Given the description of an element on the screen output the (x, y) to click on. 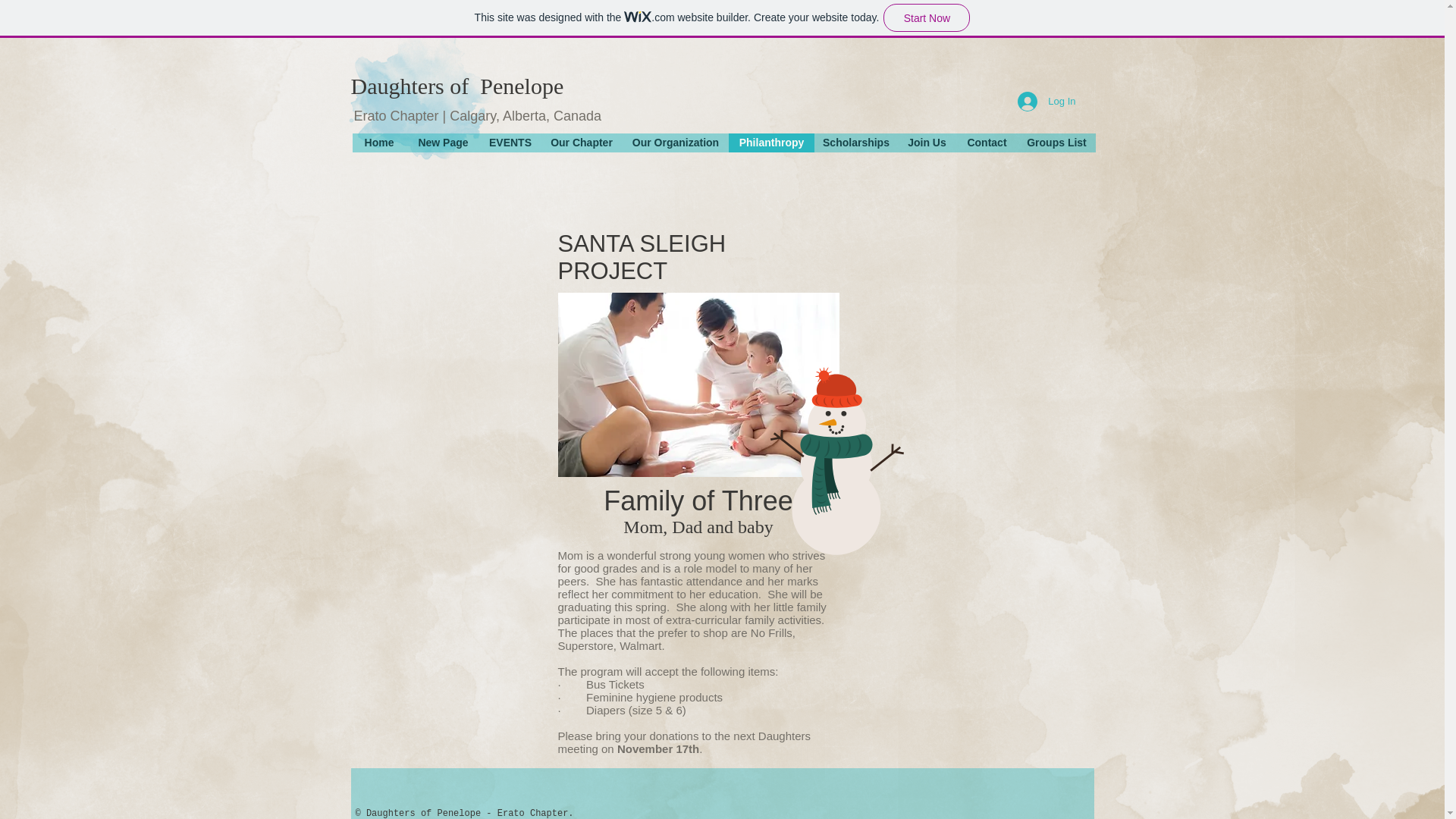
EVENTS (509, 142)
Our Organization (674, 142)
Groups List (1056, 142)
Our Chapter (580, 142)
Contact (985, 142)
Log In (1046, 101)
Scholarships (855, 142)
New Page (443, 142)
Philanthropy (770, 142)
Join Us (927, 142)
